Given the description of an element on the screen output the (x, y) to click on. 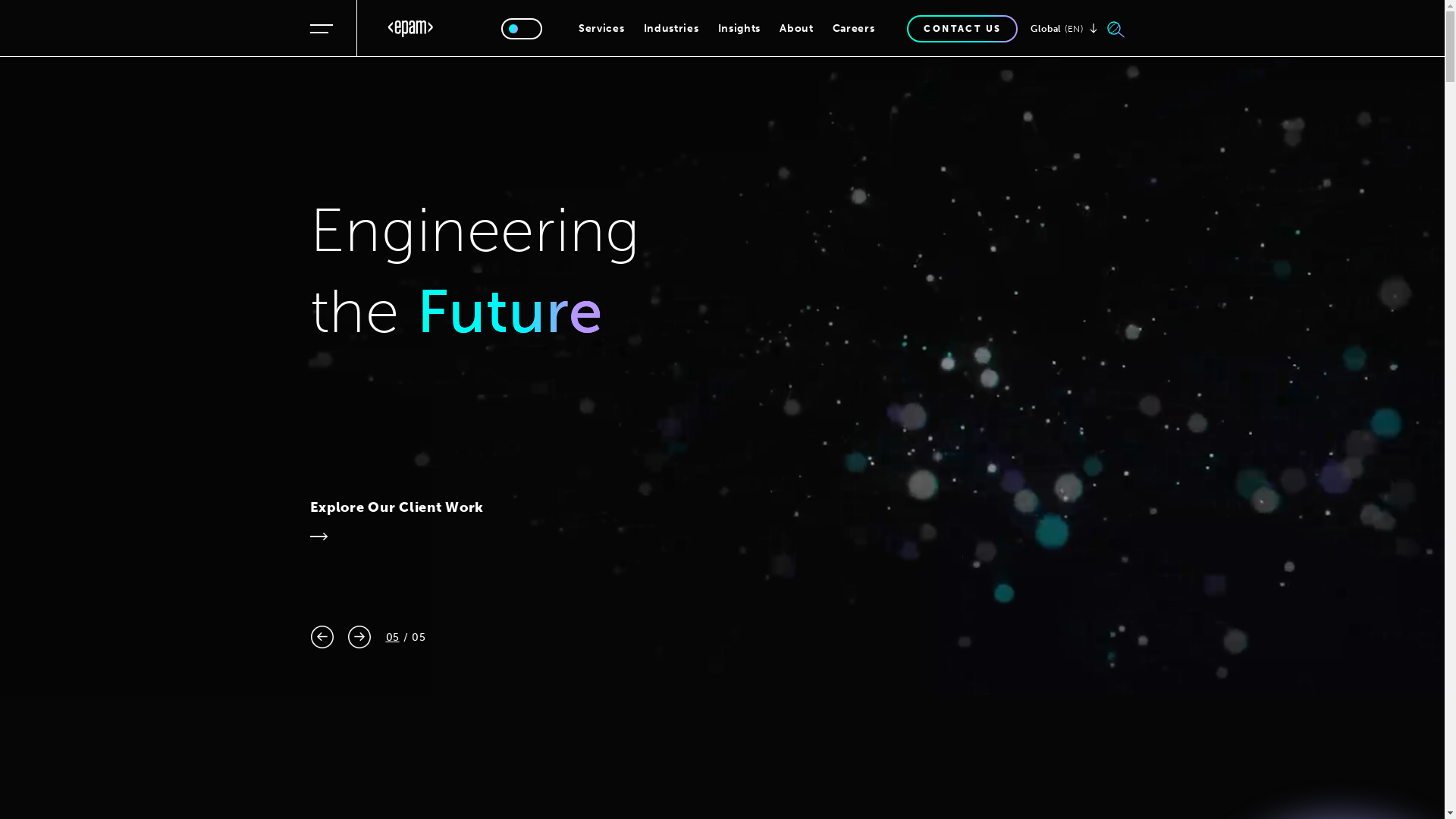
CONTACT US Element type: text (962, 28)
Global
(EN) Element type: text (1063, 28)
Services Element type: text (601, 27)
Careers Element type: text (853, 27)
Read More Element type: text (359, 506)
Insights Element type: text (738, 27)
About Element type: text (796, 27)
Industries Element type: text (670, 27)
